Given the description of an element on the screen output the (x, y) to click on. 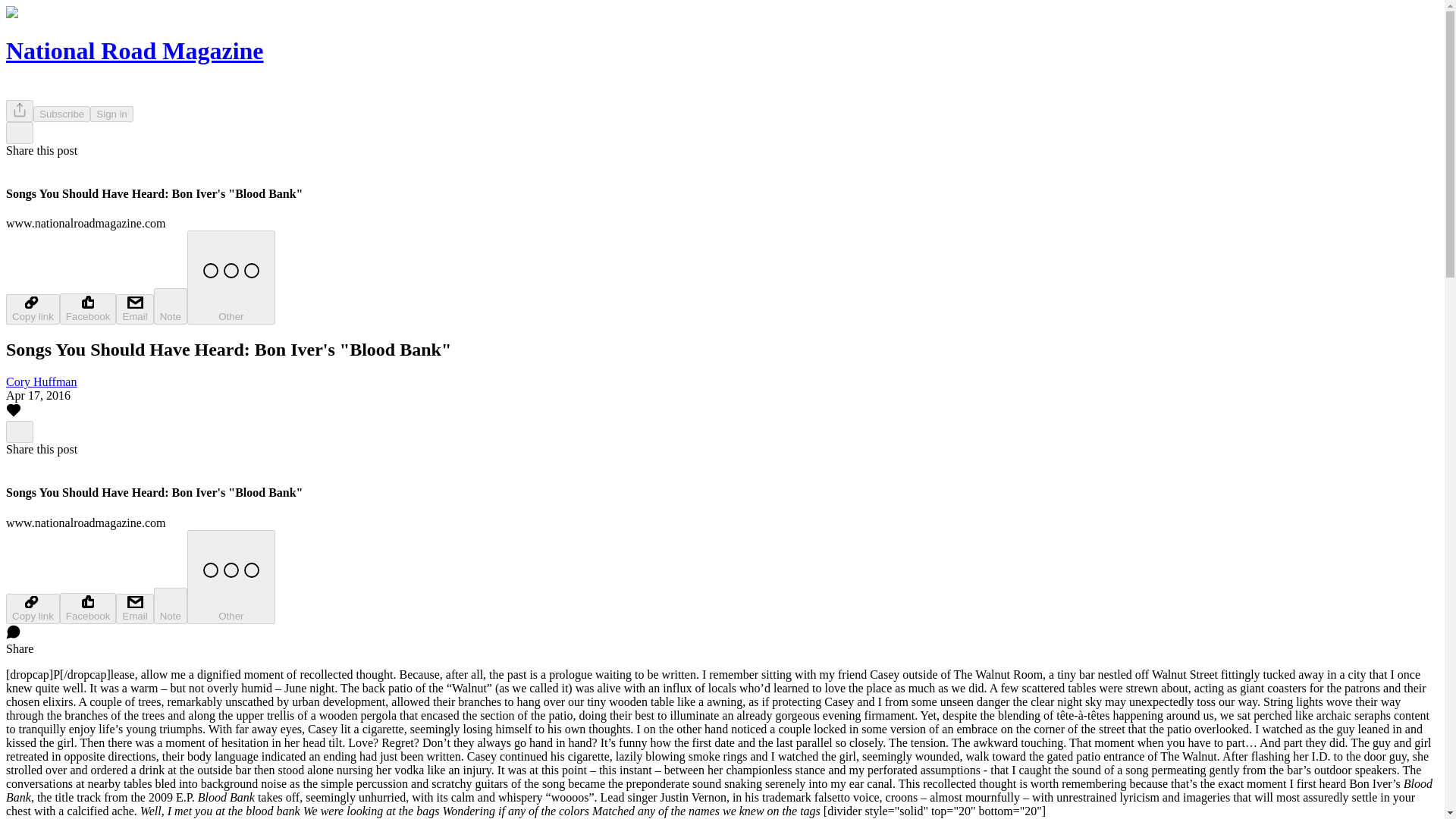
Copy link (32, 309)
Other (231, 576)
Email (134, 608)
Sign in (111, 114)
Subscribe (61, 114)
Facebook (87, 608)
Note (170, 306)
National Road Magazine (134, 50)
Other (231, 277)
Facebook (87, 308)
Copy link (32, 608)
Cory Huffman (41, 381)
Email (134, 309)
Note (170, 606)
